Given the description of an element on the screen output the (x, y) to click on. 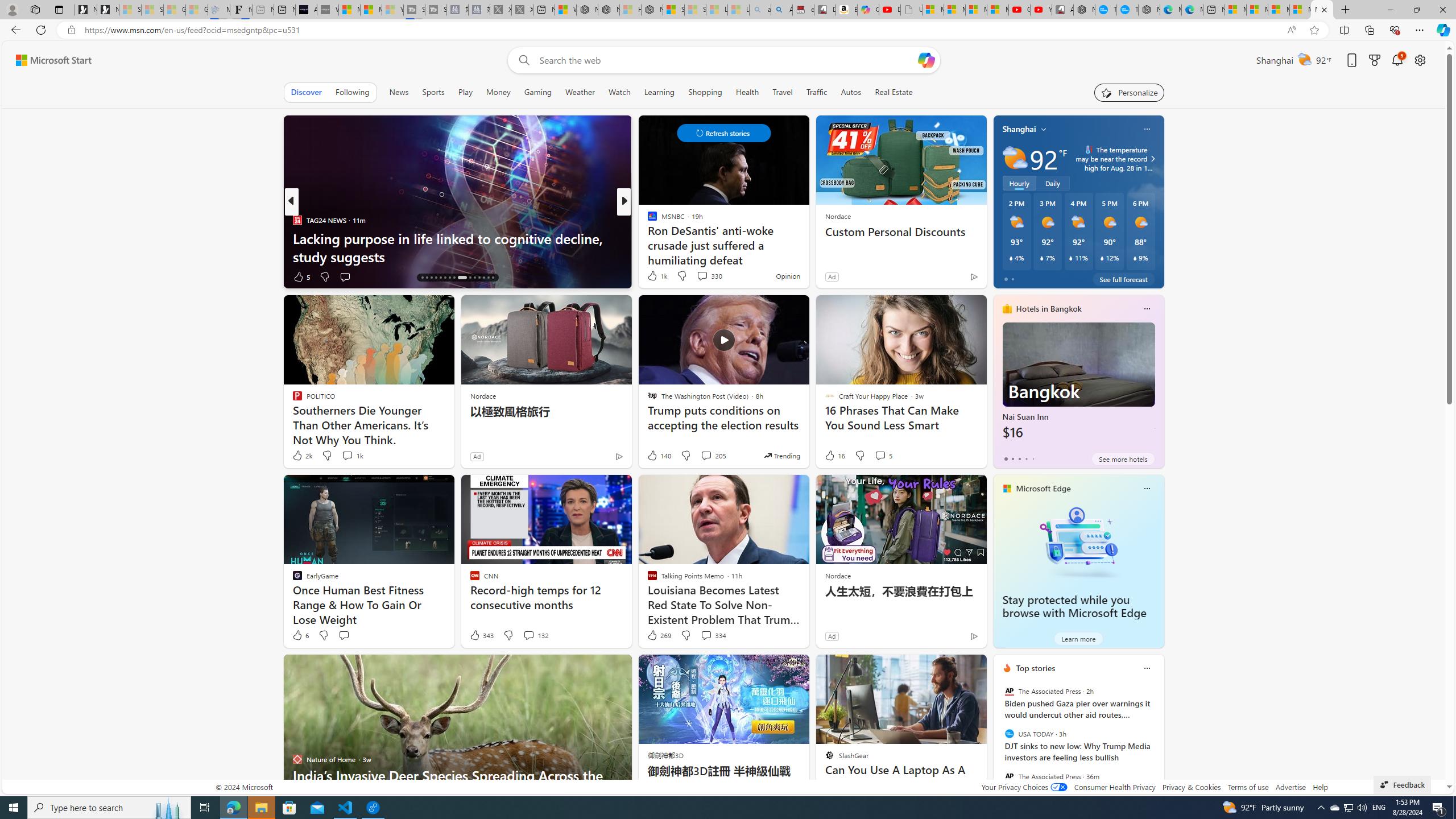
View comments 33 Comment (704, 276)
AutomationID: tab-18 (431, 277)
AutomationID: tab-19 (435, 277)
View comments 1 Comment (698, 276)
8 Like (651, 276)
AutomationID: tab-29 (488, 277)
